Given the description of an element on the screen output the (x, y) to click on. 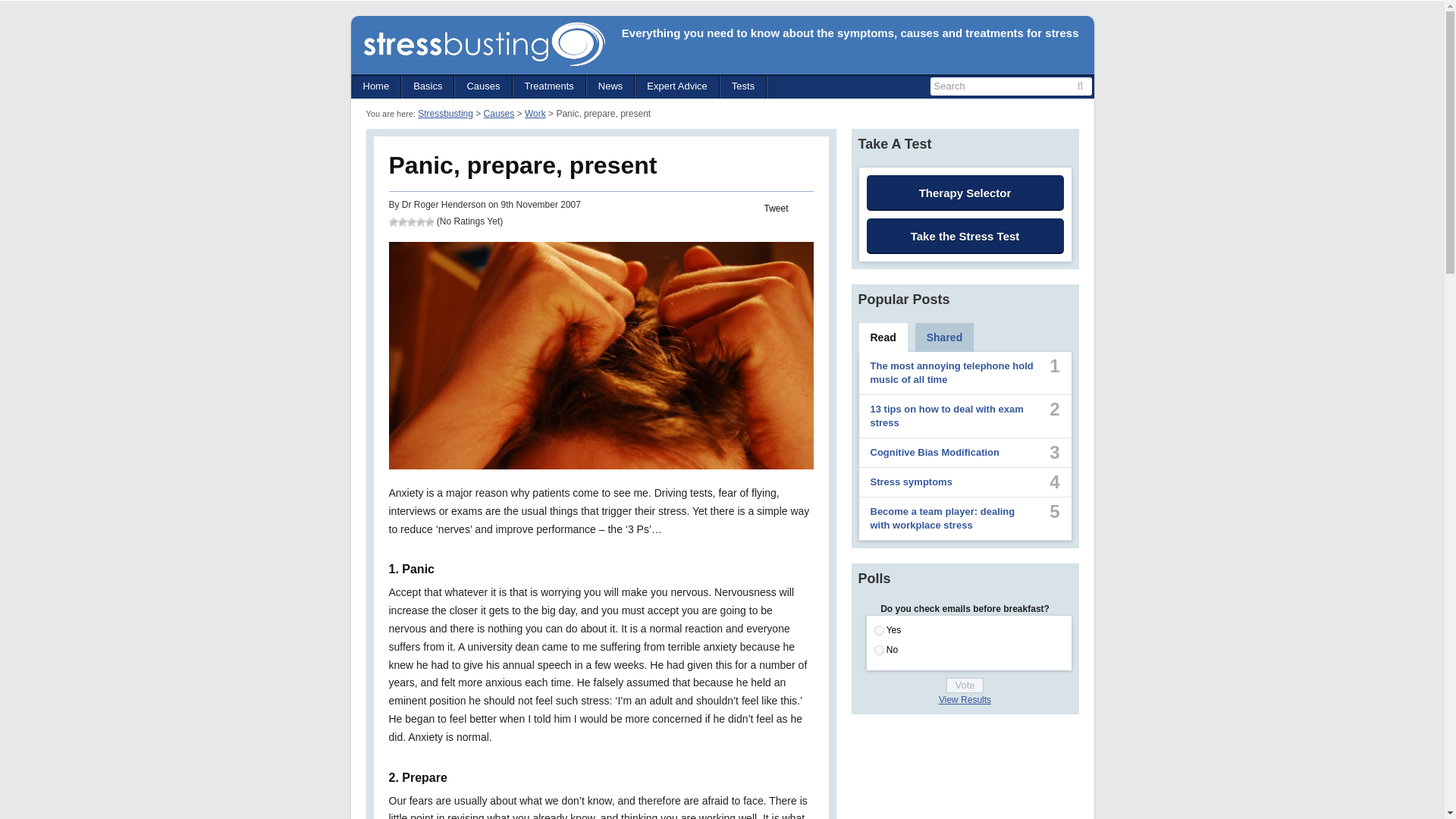
Return to Homepage (483, 44)
Follow on Twitter (1010, 54)
4 Stars (419, 221)
Subscribe via RSS (1068, 54)
2 Stars (401, 221)
   Vote    (965, 685)
Go to Stressbusting. (445, 113)
Search (1080, 85)
Basics (427, 86)
Home (375, 86)
